Given the description of an element on the screen output the (x, y) to click on. 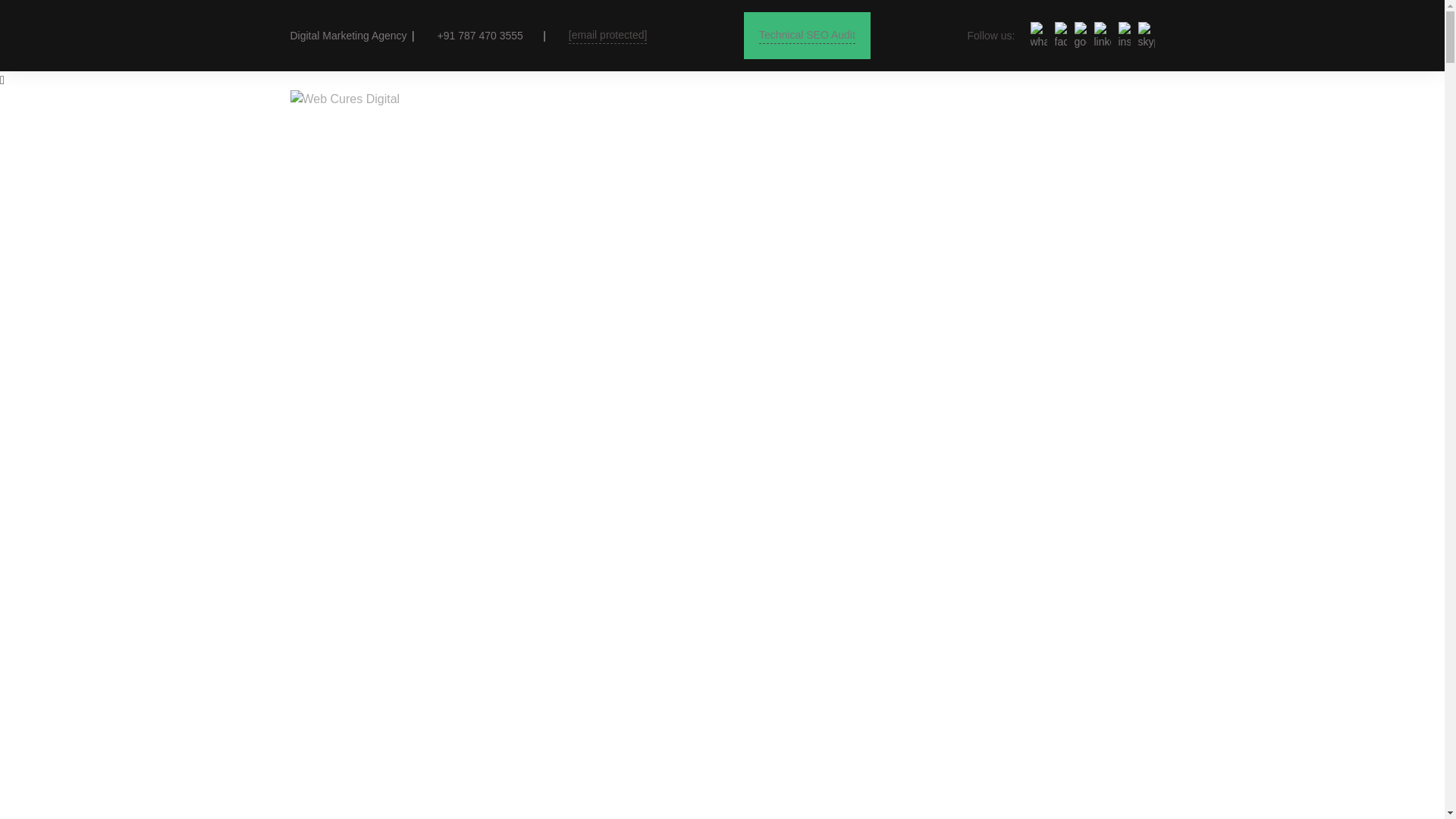
Technical SEO Audit (807, 35)
